Given the description of an element on the screen output the (x, y) to click on. 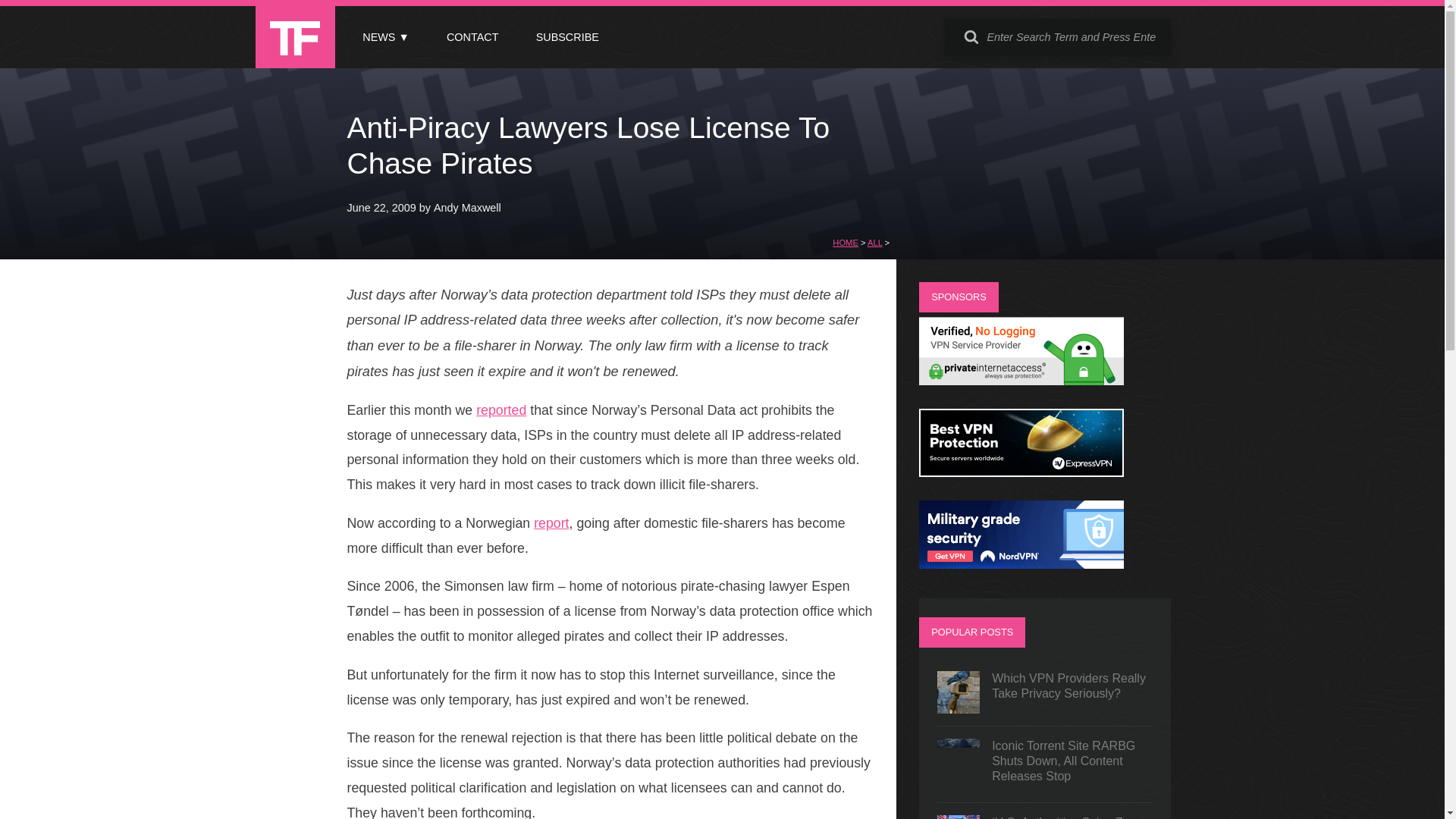
Go to the All category archives. (874, 242)
report (551, 522)
Go to TorrentFreak. (845, 242)
Andy Maxwell (466, 207)
SUBSCRIBE (566, 37)
HOME (845, 242)
reported (500, 409)
Which VPN Providers Really Take Privacy Seriously? (1045, 691)
Private Internet Access (1021, 380)
CONTACT (471, 37)
ExpressVPN (1021, 472)
ALL (874, 242)
